Given the description of an element on the screen output the (x, y) to click on. 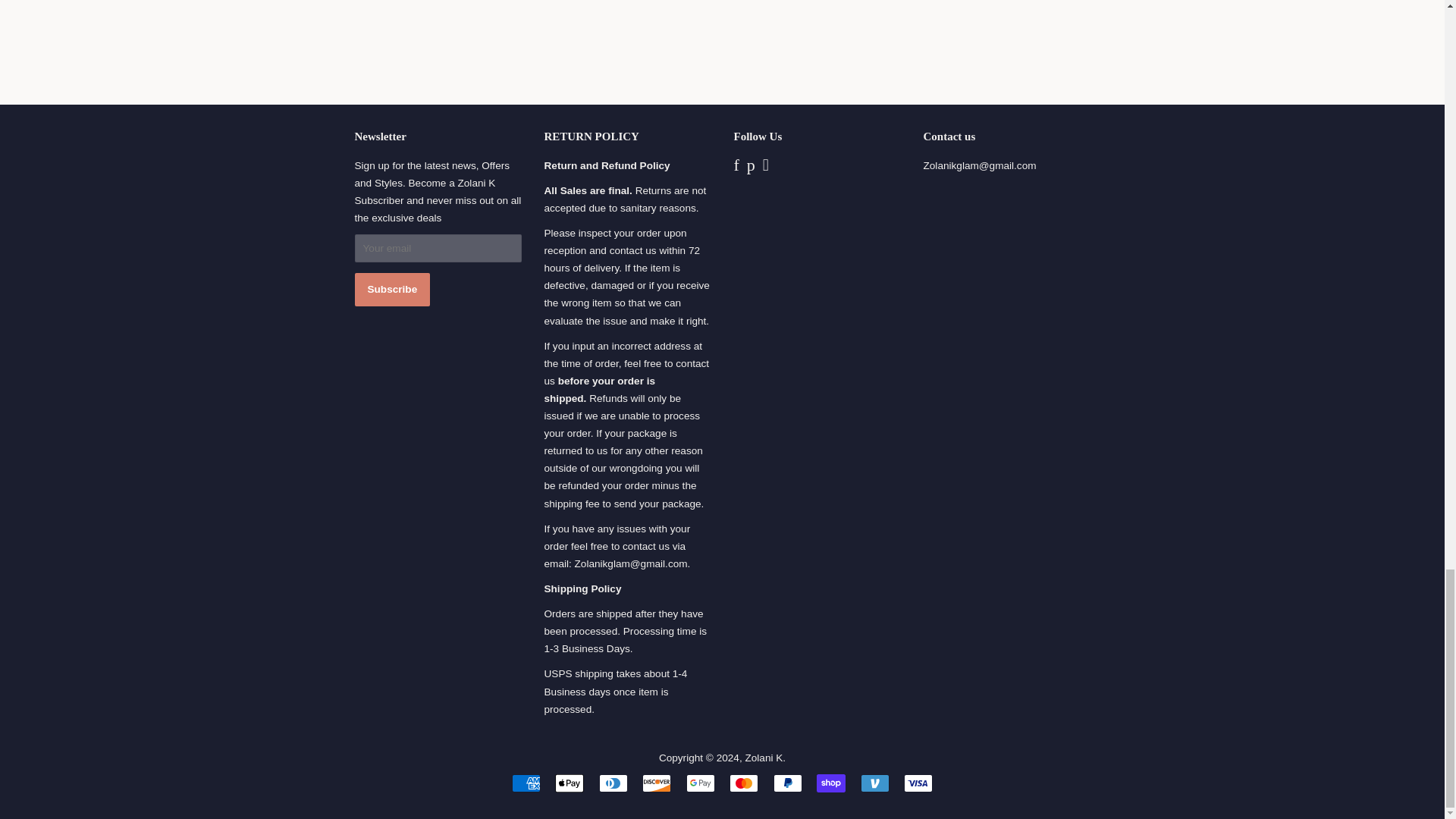
Shop Pay (830, 782)
Zolani K (763, 757)
Subscribe (392, 289)
Visa (918, 782)
Discover (656, 782)
Diners Club (612, 782)
Subscribe (392, 289)
Venmo (874, 782)
PayPal (787, 782)
American Express (526, 782)
Mastercard (743, 782)
Google Pay (699, 782)
Apple Pay (568, 782)
